Given the description of an element on the screen output the (x, y) to click on. 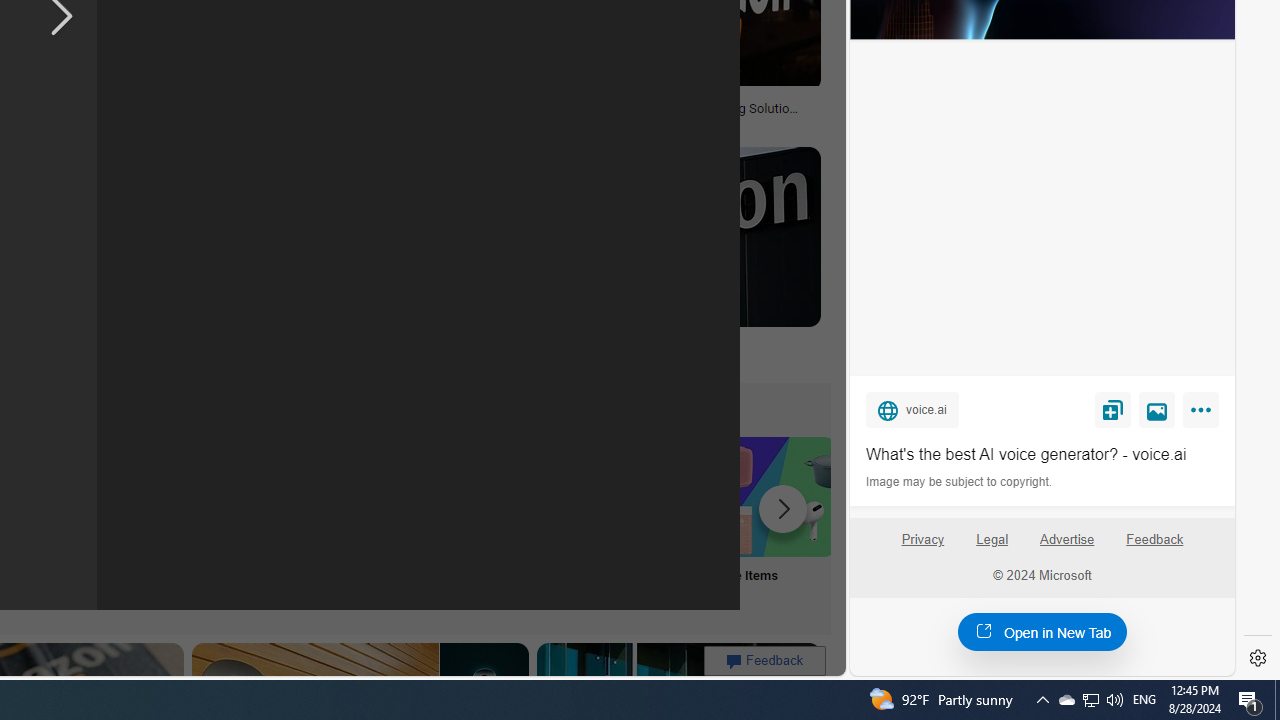
Image result for amazon (662, 236)
voice.ai (912, 409)
mobilemarketingmagazine.com (651, 123)
Amazon Visa Card Login (643, 496)
protothema.gr (662, 359)
Amazon Prime Shopping Online Prime Shopping Online (380, 521)
Amazon (536, 343)
Privacy (922, 539)
vecteezy.com (317, 121)
Scroll more suggestions right (783, 508)
View image (1157, 409)
Amazon Online Shopping Homepage Online Shopping Homepage (248, 521)
